Given the description of an element on the screen output the (x, y) to click on. 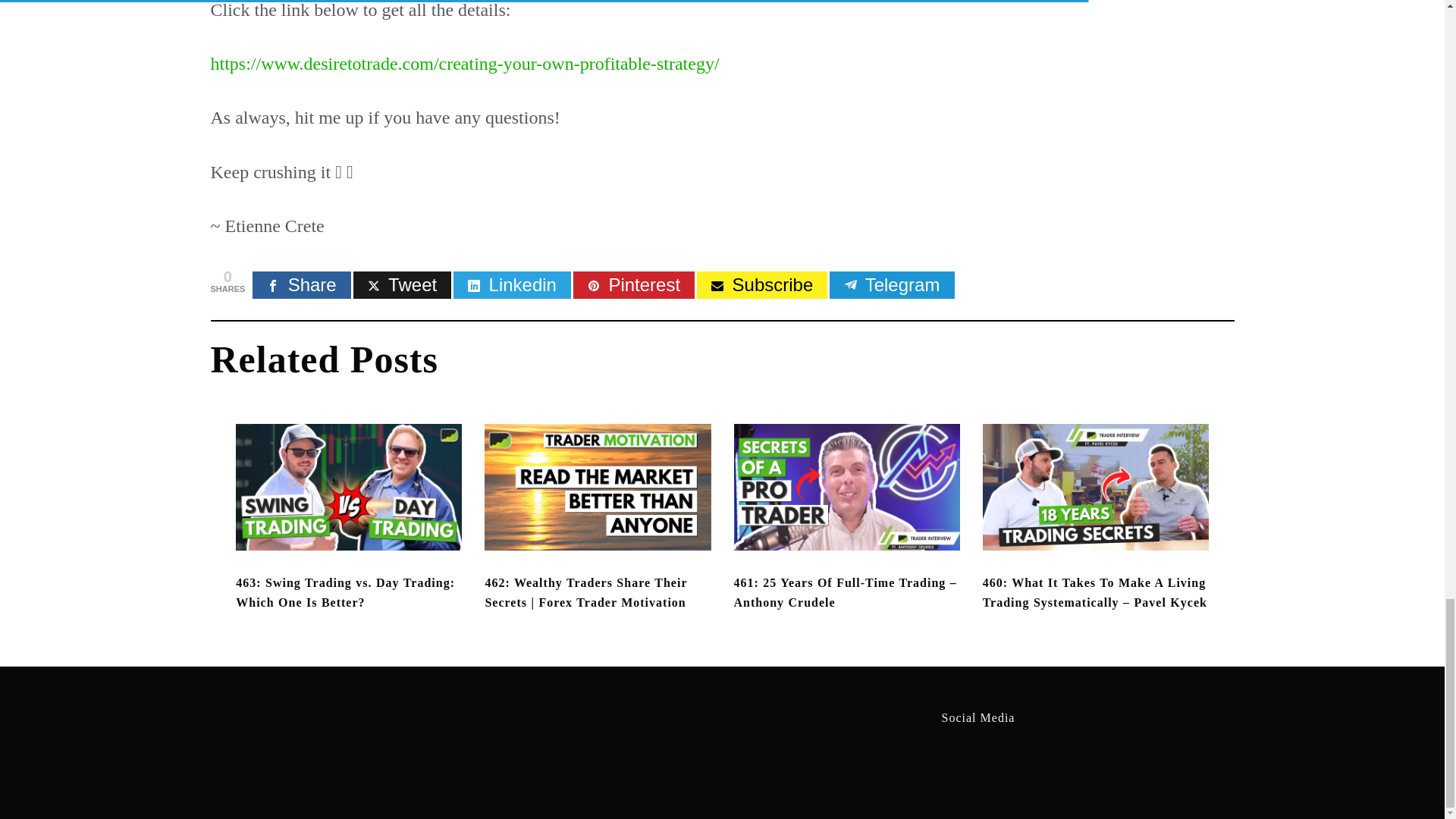
Subscribe (762, 284)
Telegram (891, 284)
Share (300, 284)
Pinterest (633, 284)
Tweet (402, 284)
Linkedin (511, 284)
